Given the description of an element on the screen output the (x, y) to click on. 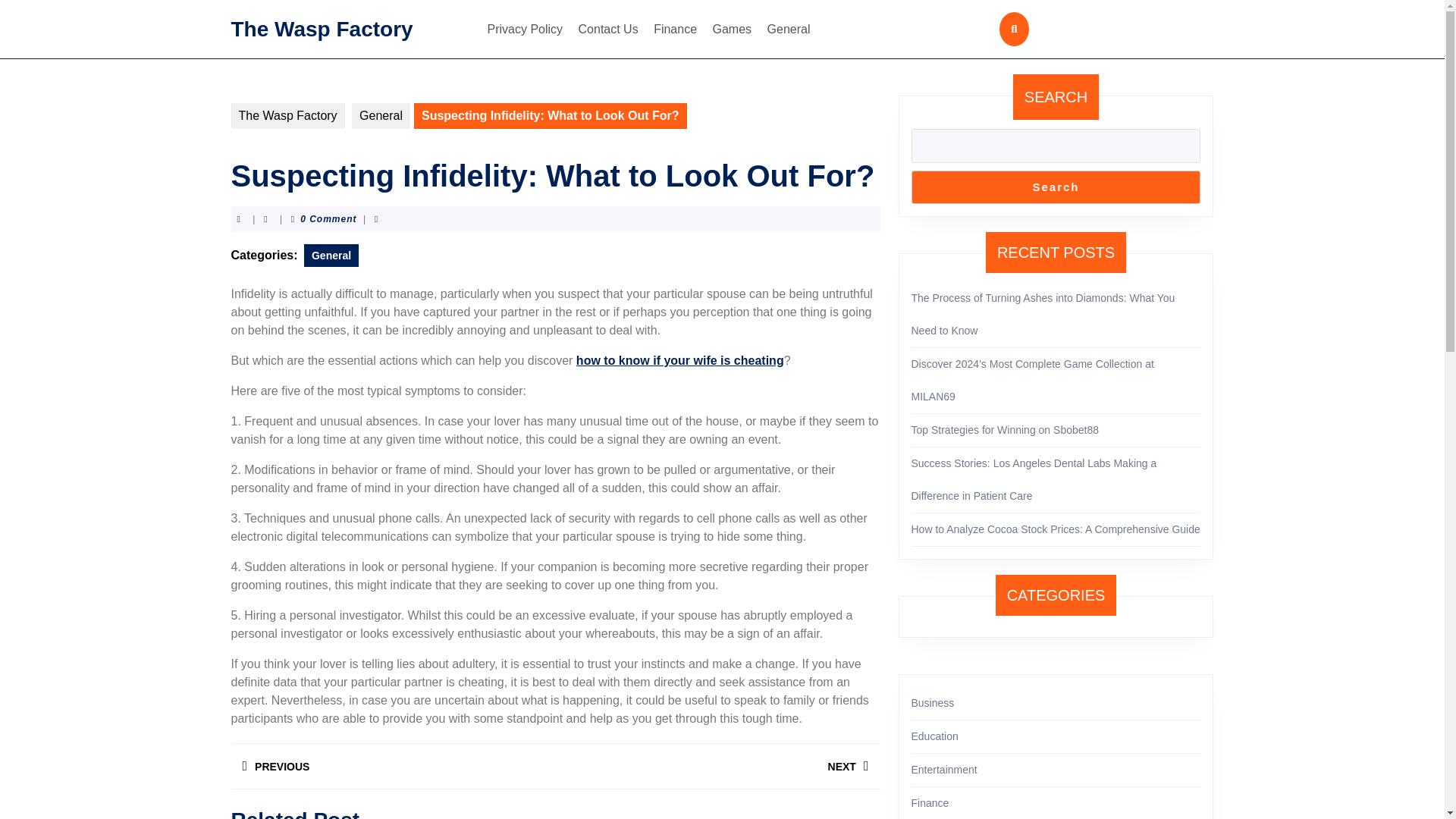
Games (732, 28)
How to Analyze Cocoa Stock Prices: A Comprehensive Guide (1055, 529)
how to know if your wife is cheating (680, 359)
General (716, 765)
Business (788, 28)
General (933, 702)
General (331, 255)
Finance (381, 115)
Education (675, 28)
Contact Us (934, 736)
The Wasp Factory (608, 28)
Privacy Policy (286, 115)
